Given the description of an element on the screen output the (x, y) to click on. 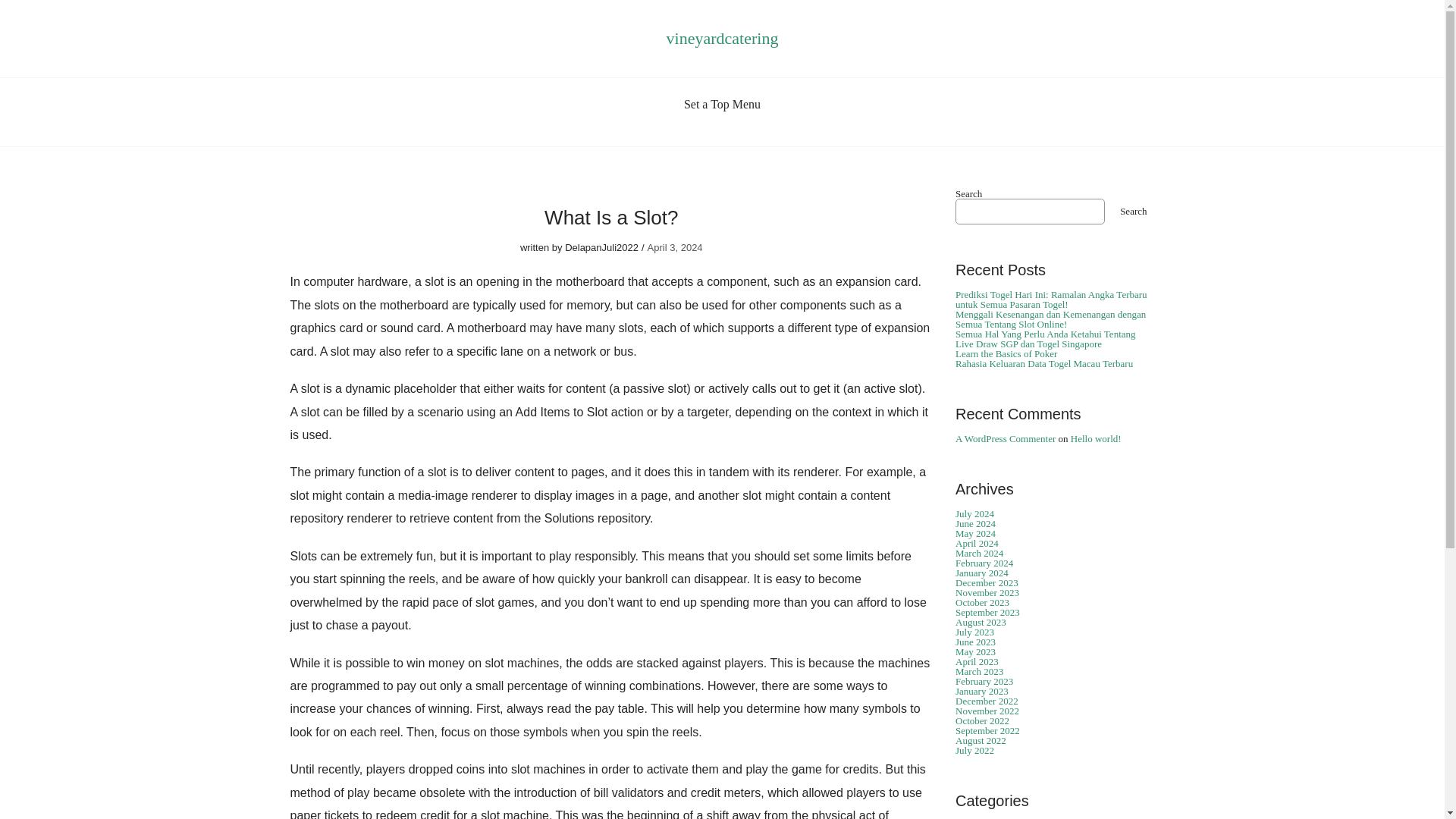
June 2023 (975, 641)
July 2023 (974, 632)
October 2023 (982, 602)
Hello world! (1095, 438)
February 2023 (984, 681)
January 2023 (982, 690)
December 2023 (986, 582)
May 2023 (975, 651)
December 2022 (986, 700)
March 2024 (979, 552)
October 2022 (982, 720)
September 2023 (987, 612)
November 2023 (987, 592)
August 2022 (980, 740)
